Given the description of an element on the screen output the (x, y) to click on. 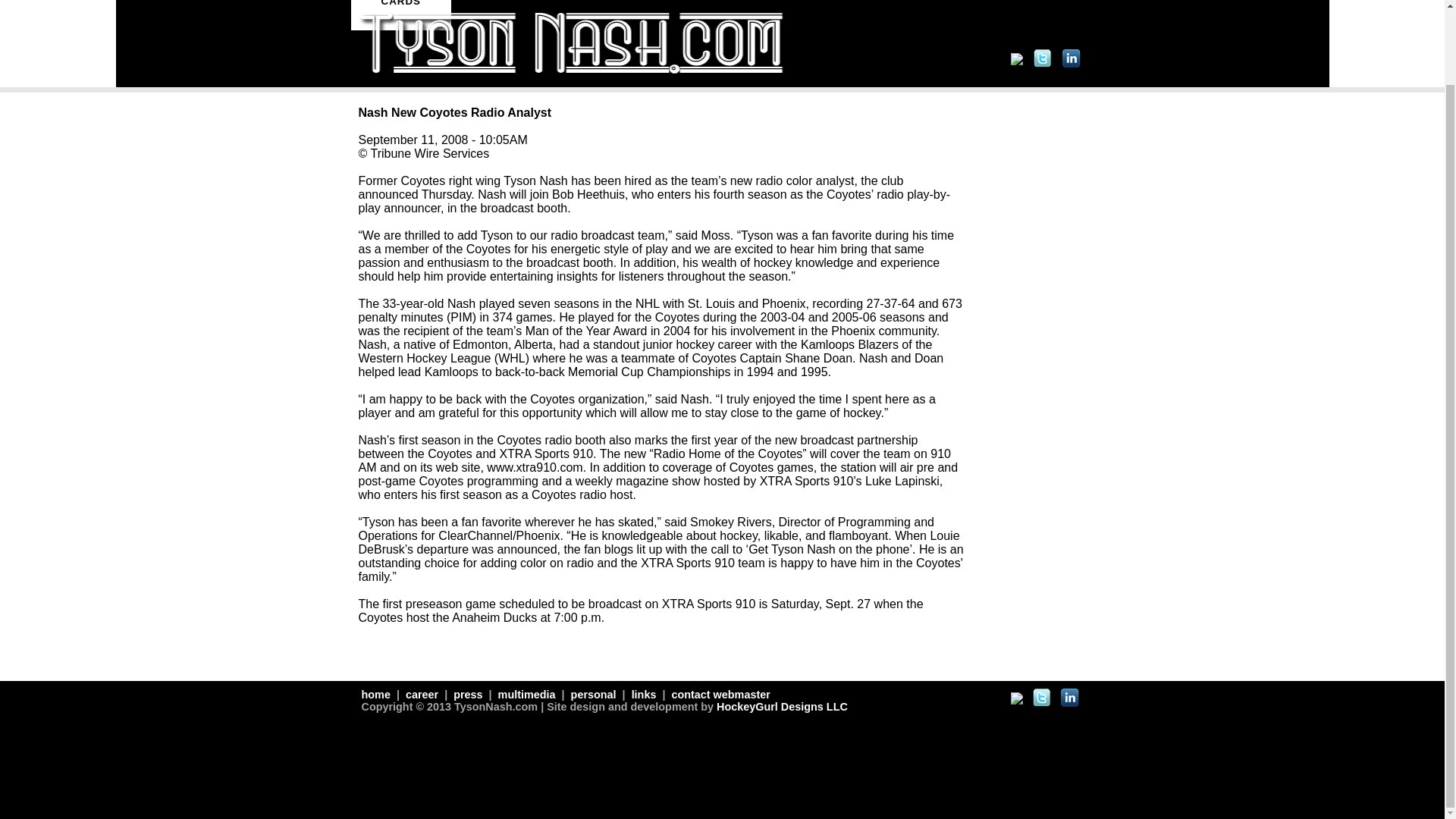
 contact webmaster (719, 694)
career (422, 694)
home  (377, 694)
multimedia (526, 694)
personal (592, 694)
HockeyGurl Designs LLC (781, 706)
links  (645, 694)
CARDS (399, 15)
press (466, 694)
